Given the description of an element on the screen output the (x, y) to click on. 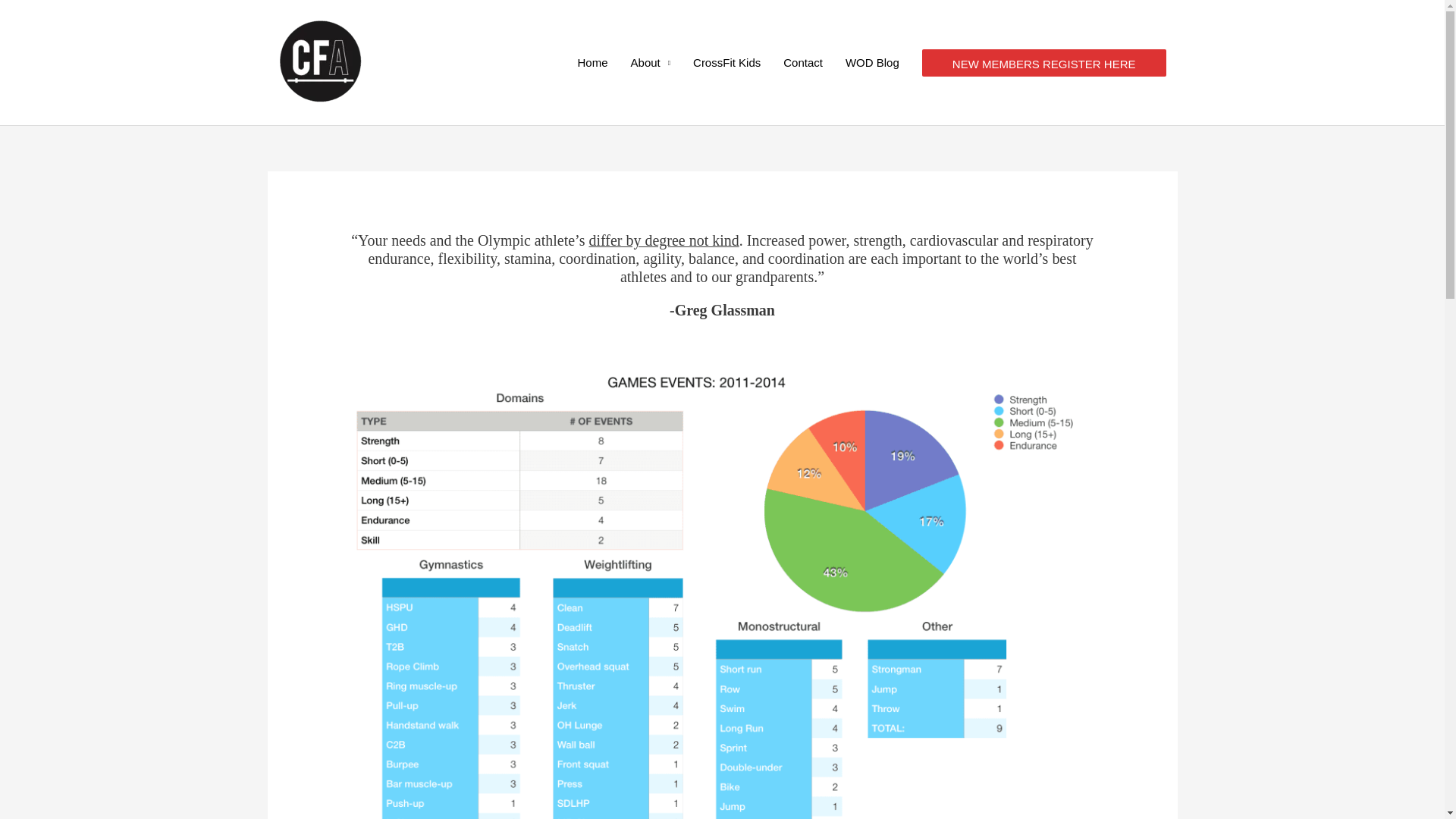
NEW MEMBERS REGISTER HERE (1043, 62)
NEW MEMBERS REGISTER HERE (1043, 62)
